Given the description of an element on the screen output the (x, y) to click on. 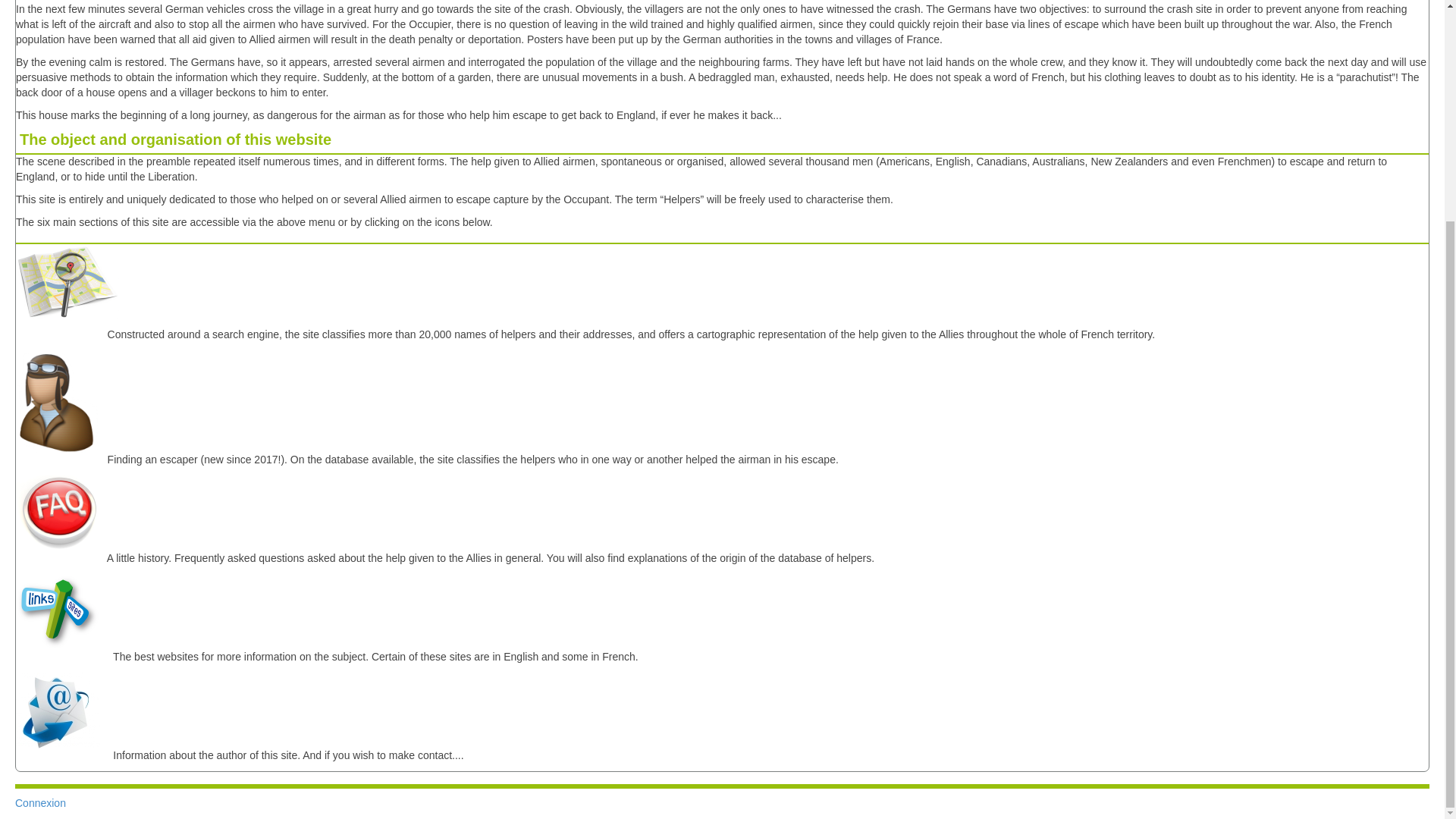
Connexion (39, 802)
